Given the description of an element on the screen output the (x, y) to click on. 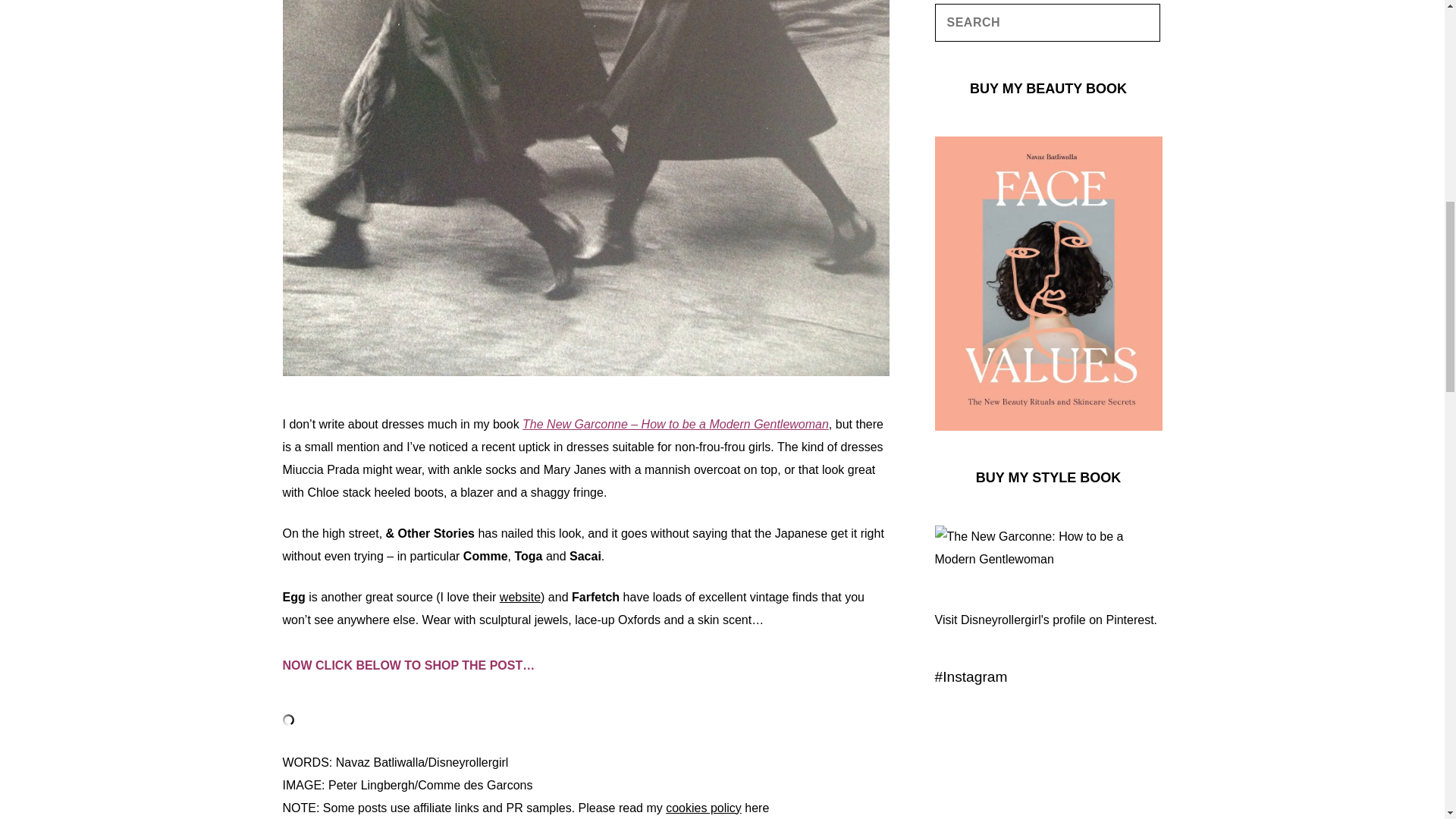
cookies policy (703, 807)
face-values (1047, 418)
website (519, 595)
Coke by Salvador Costa, Punk Series, 1977 (980, 738)
the-new-garconne-book (1047, 558)
Visit Disneyrollergirl's profile on Pinterest. (1045, 619)
